Given the description of an element on the screen output the (x, y) to click on. 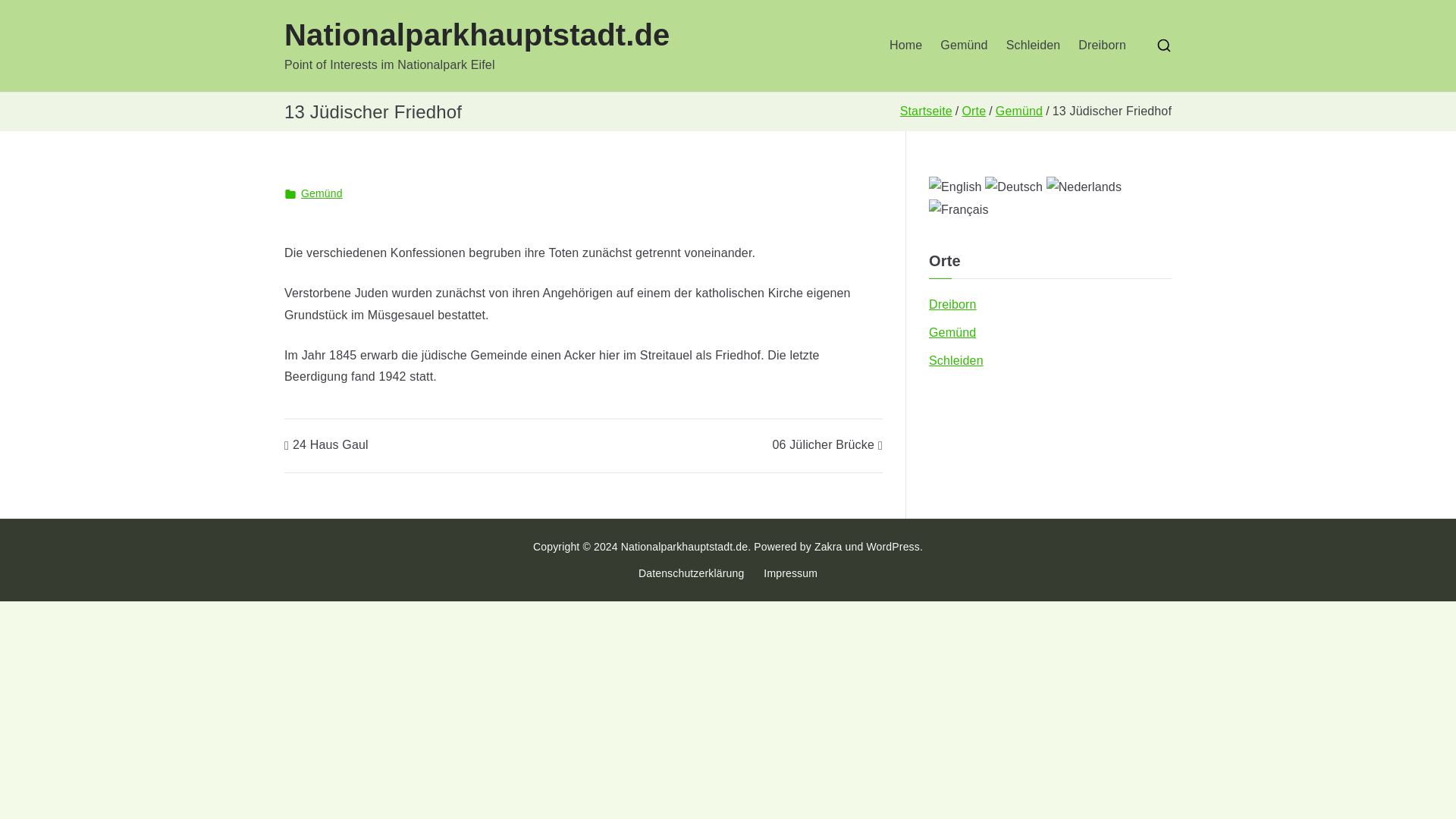
Zakra (828, 545)
WordPress (892, 545)
Search (26, 12)
Startseite (925, 110)
Dreiborn (952, 305)
Zakra (828, 545)
Dreiborn (1101, 45)
Home (905, 45)
Schleiden (1033, 45)
Nationalparkhauptstadt.de (684, 545)
